Given the description of an element on the screen output the (x, y) to click on. 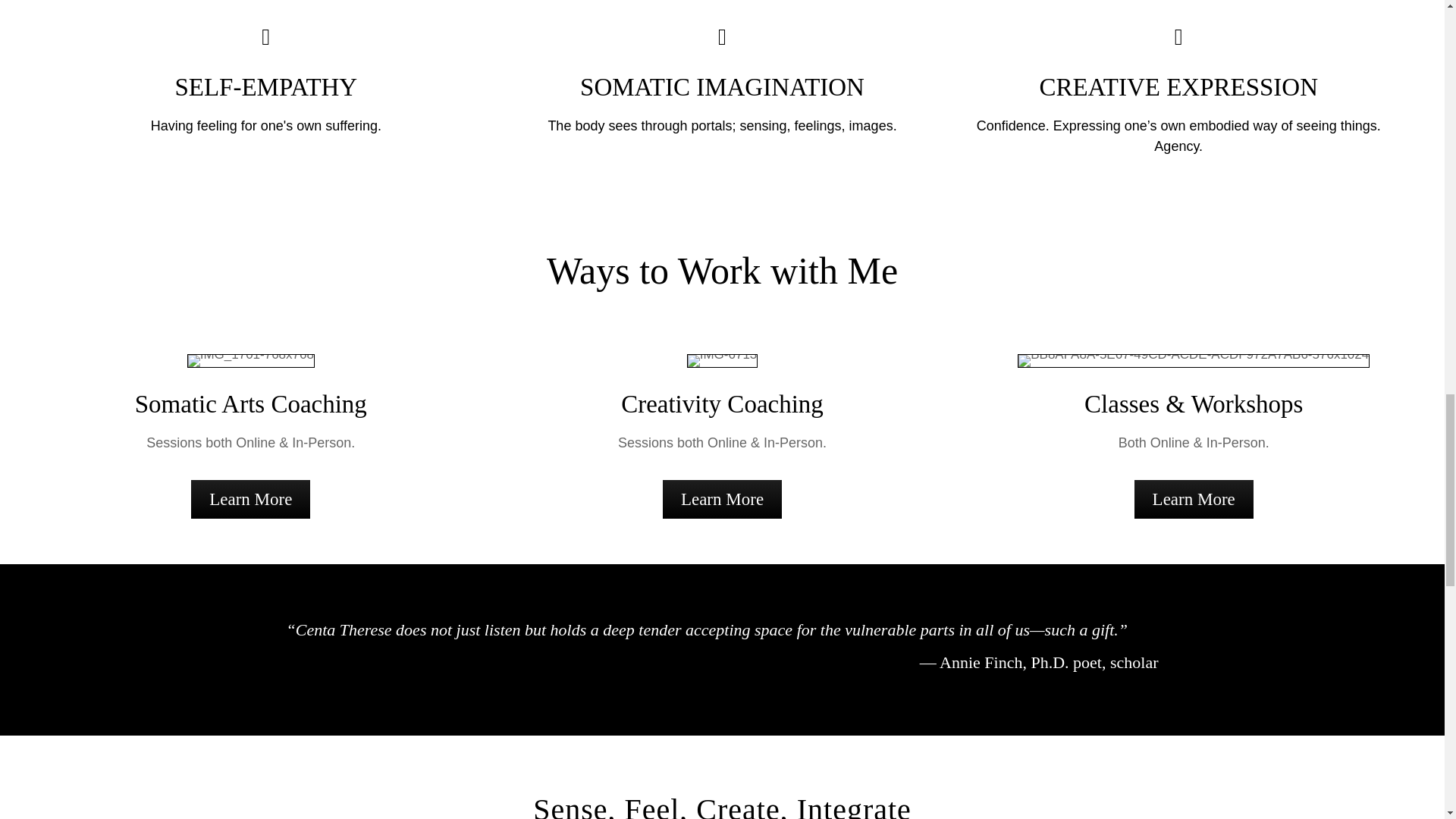
BB8AFA8A-5E67-49CD-ACDE-ACDF972A7AB6-576x1024 (1193, 360)
Learn More (1193, 499)
IMG-6713 (722, 360)
Learn More (721, 499)
Learn More (250, 499)
